Given the description of an element on the screen output the (x, y) to click on. 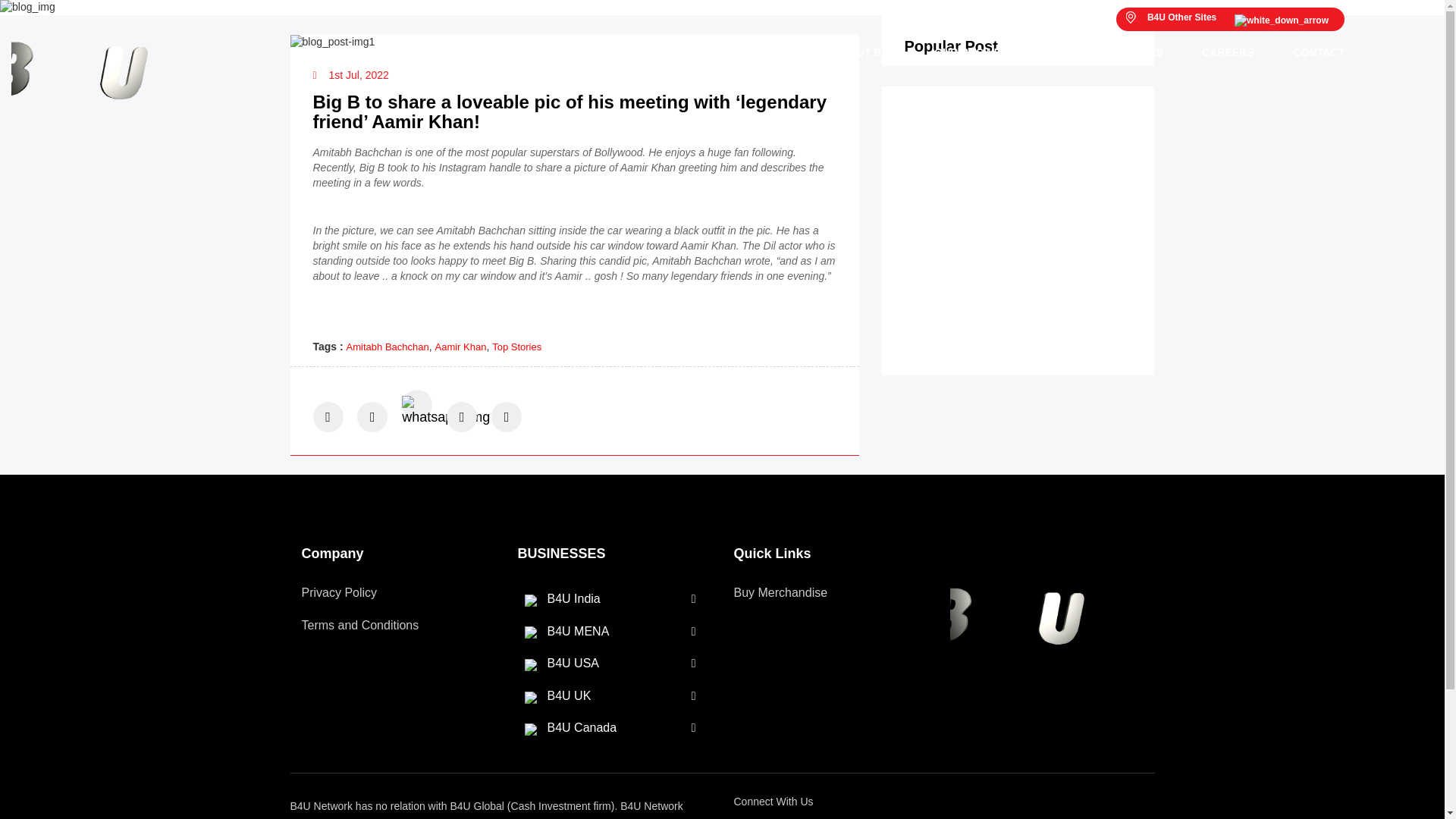
CONTACT (1309, 52)
Aamir Khan (460, 346)
  B4U Other Sites   (1229, 19)
Amitabh Bachchan (387, 346)
Top Stories (516, 346)
CAREERS (1227, 52)
OUR BUSINESSES (980, 52)
MEDIA RELEASES (1114, 52)
ABOUT B4U (864, 52)
